Given the description of an element on the screen output the (x, y) to click on. 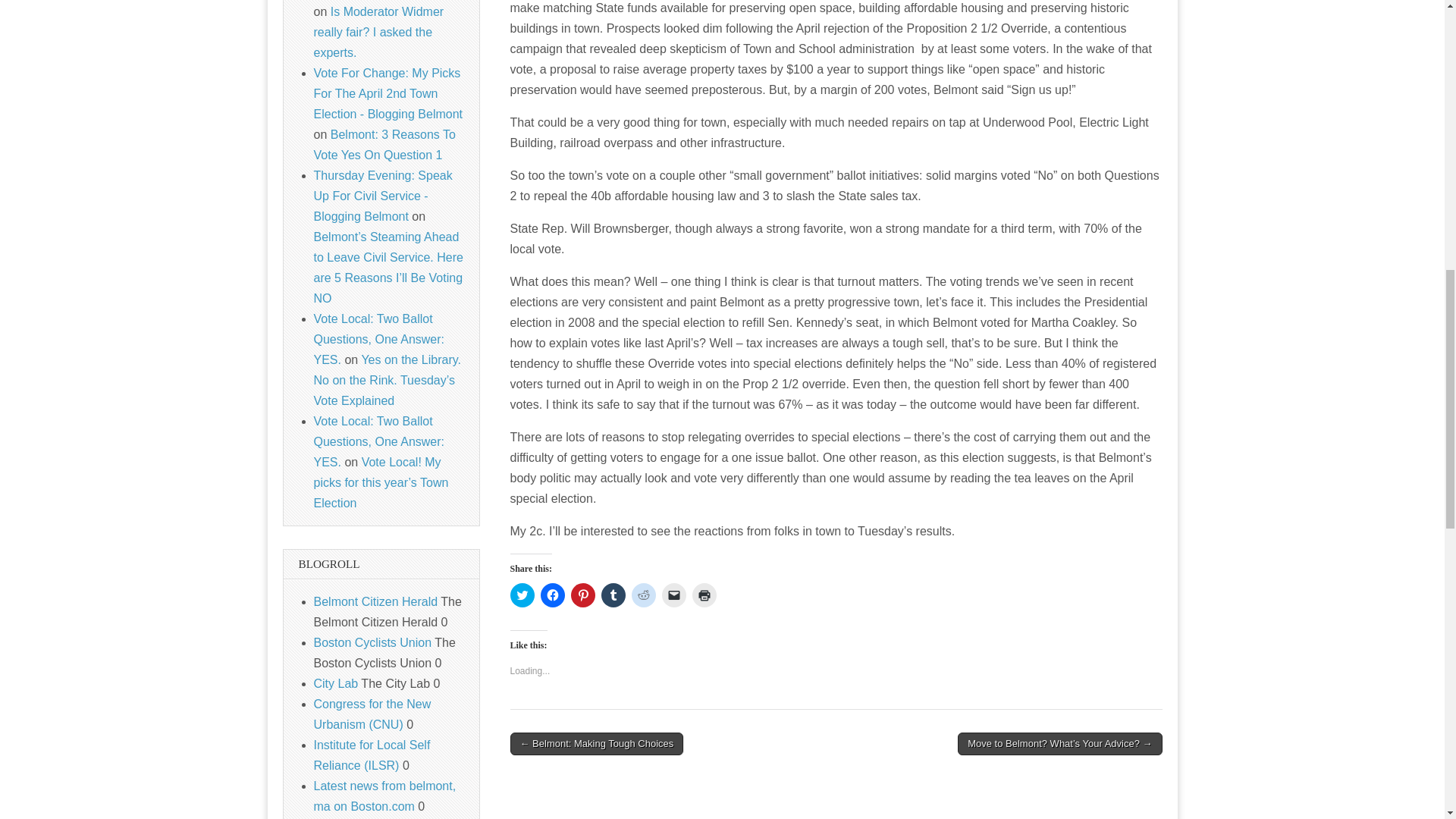
The City Lab (336, 683)
Click to share on Reddit (642, 595)
Click to print (703, 595)
The Boston Cyclists Union (373, 642)
Belmont: 3 Reasons To Vote Yes On Question 1 (384, 144)
The Belmont Citizen Herald (376, 601)
Click to share on Facebook (552, 595)
Click to email a link to a friend (673, 595)
